Given the description of an element on the screen output the (x, y) to click on. 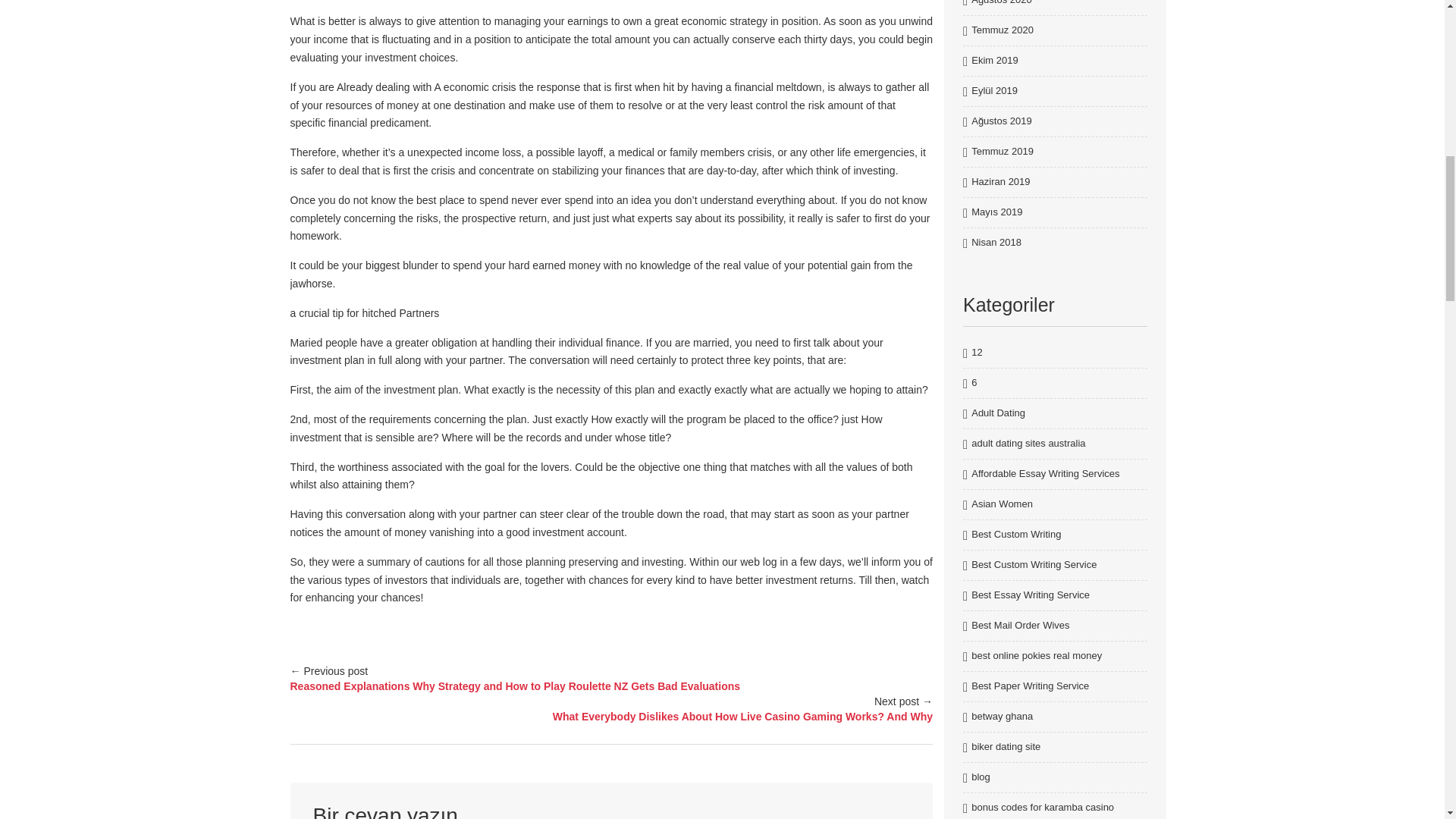
Temmuz 2020 (1002, 30)
Haziran 2019 (1000, 182)
Temmuz 2019 (1002, 151)
Nisan 2018 (996, 242)
Ekim 2019 (994, 60)
